Given the description of an element on the screen output the (x, y) to click on. 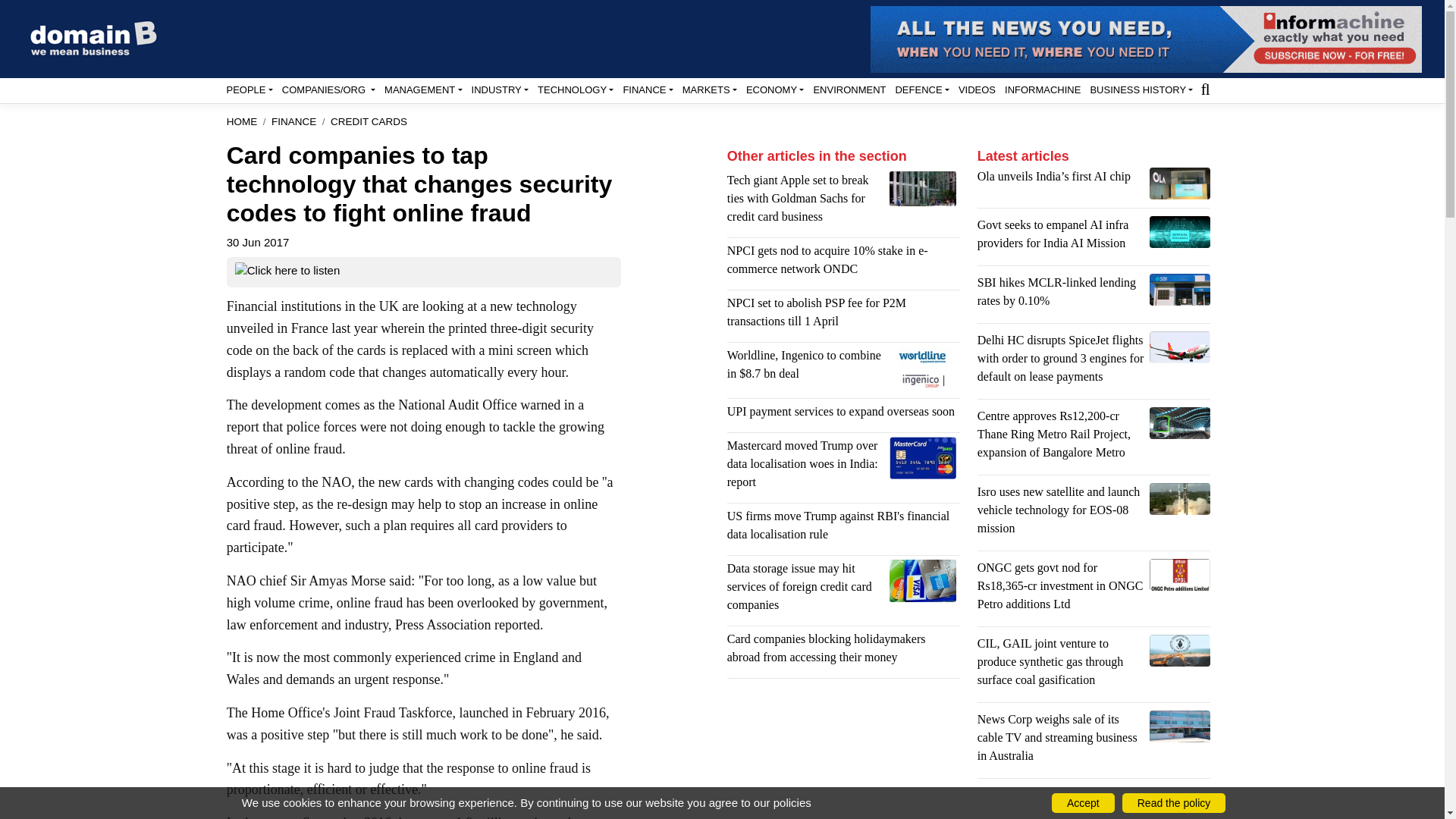
Advertisement (843, 754)
PEOPLE (248, 89)
Click here to listen (287, 271)
